Given the description of an element on the screen output the (x, y) to click on. 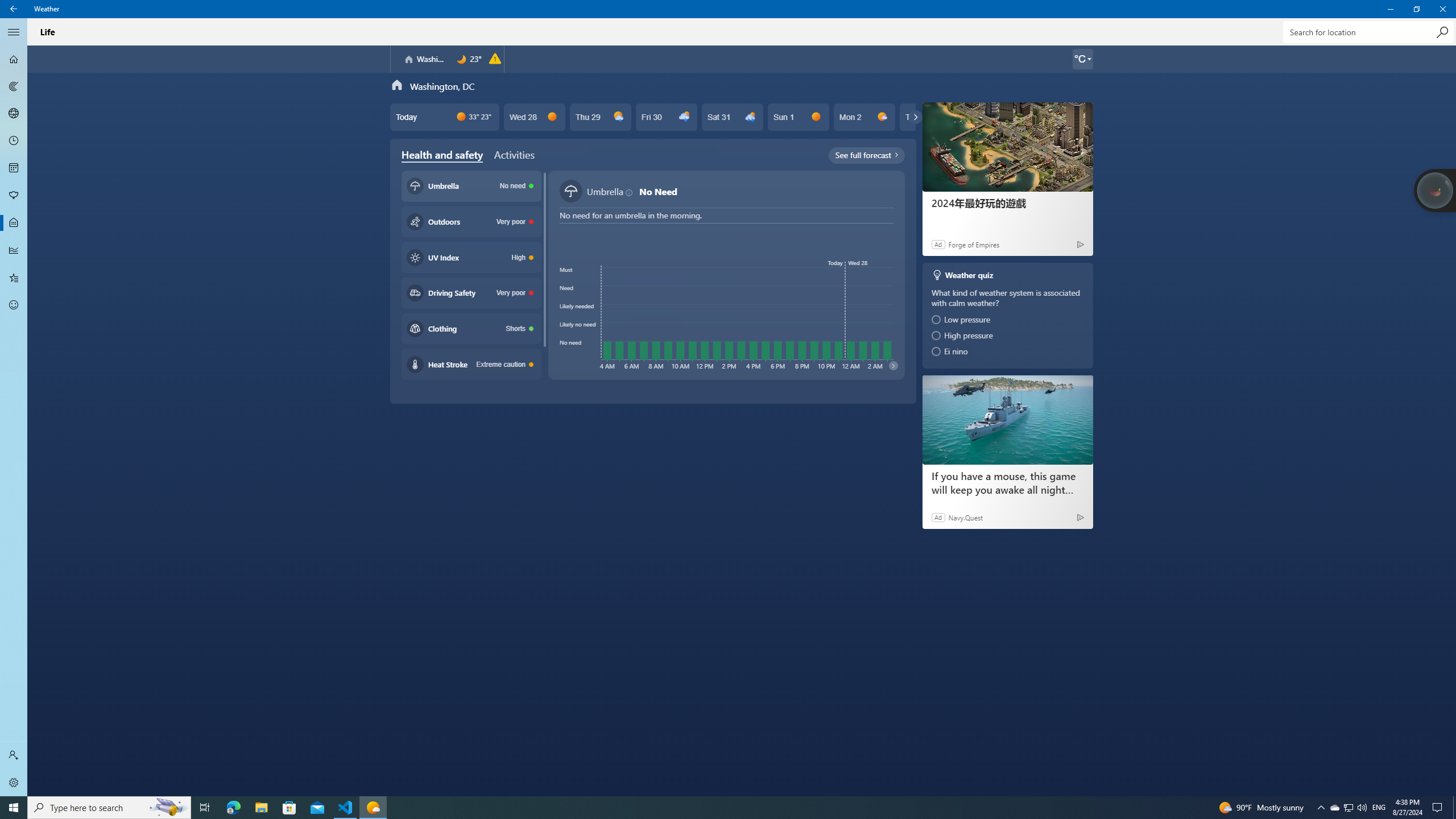
Favorites - Not Selected (13, 277)
Restore Weather (1416, 9)
Pollen - Not Selected (13, 195)
Weather - 1 running window (373, 807)
Monthly Forecast - Not Selected (13, 167)
Life - Not Selected (13, 222)
Send Feedback - Not Selected (13, 304)
Collapse Navigation (13, 31)
3D Maps - Not Selected (13, 113)
Minimize Weather (1390, 9)
